Given the description of an element on the screen output the (x, y) to click on. 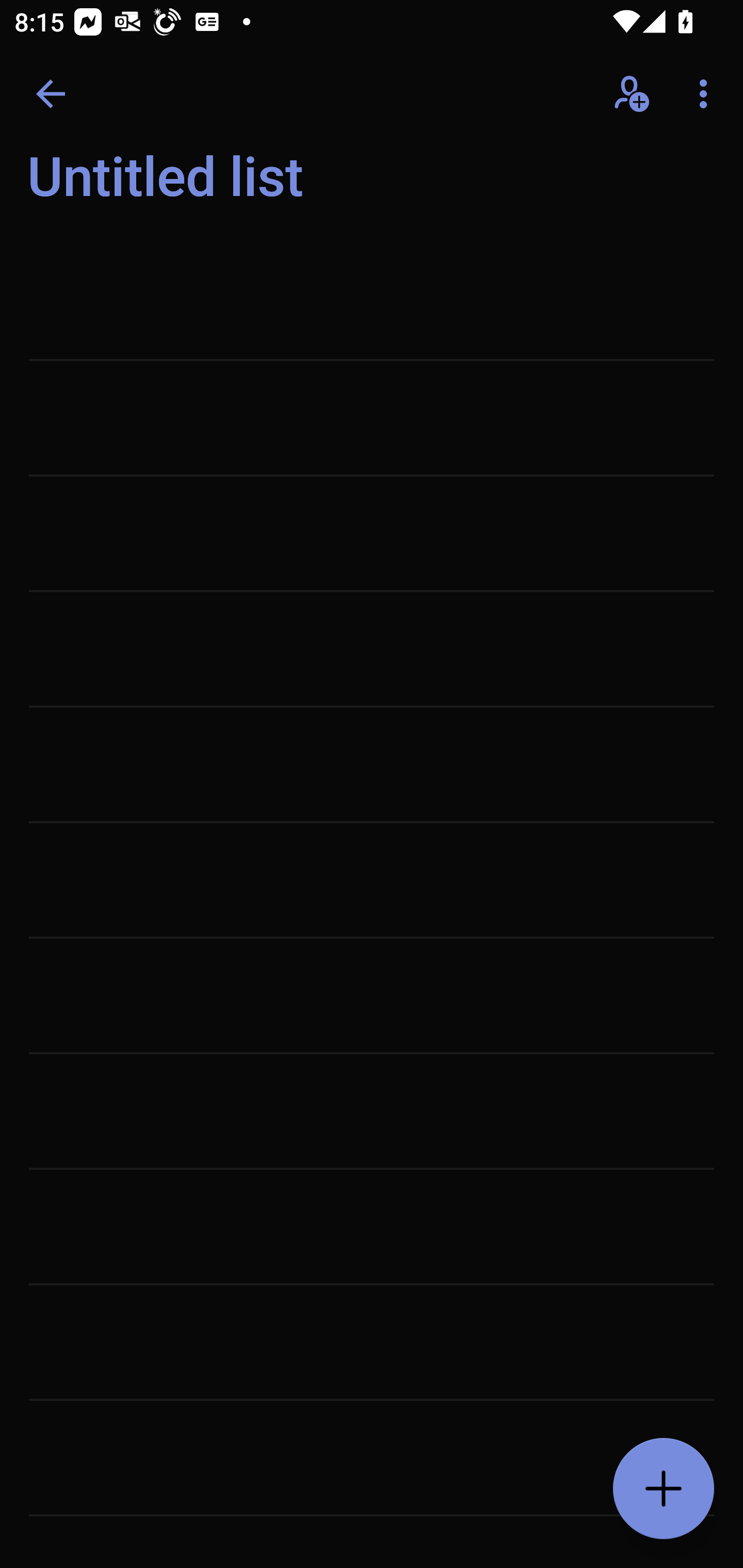
Back (50, 93)
Share list (632, 93)
More options (706, 93)
My Day, 1 tasks 1 (182, 187)
Add a task (663, 1488)
